Given the description of an element on the screen output the (x, y) to click on. 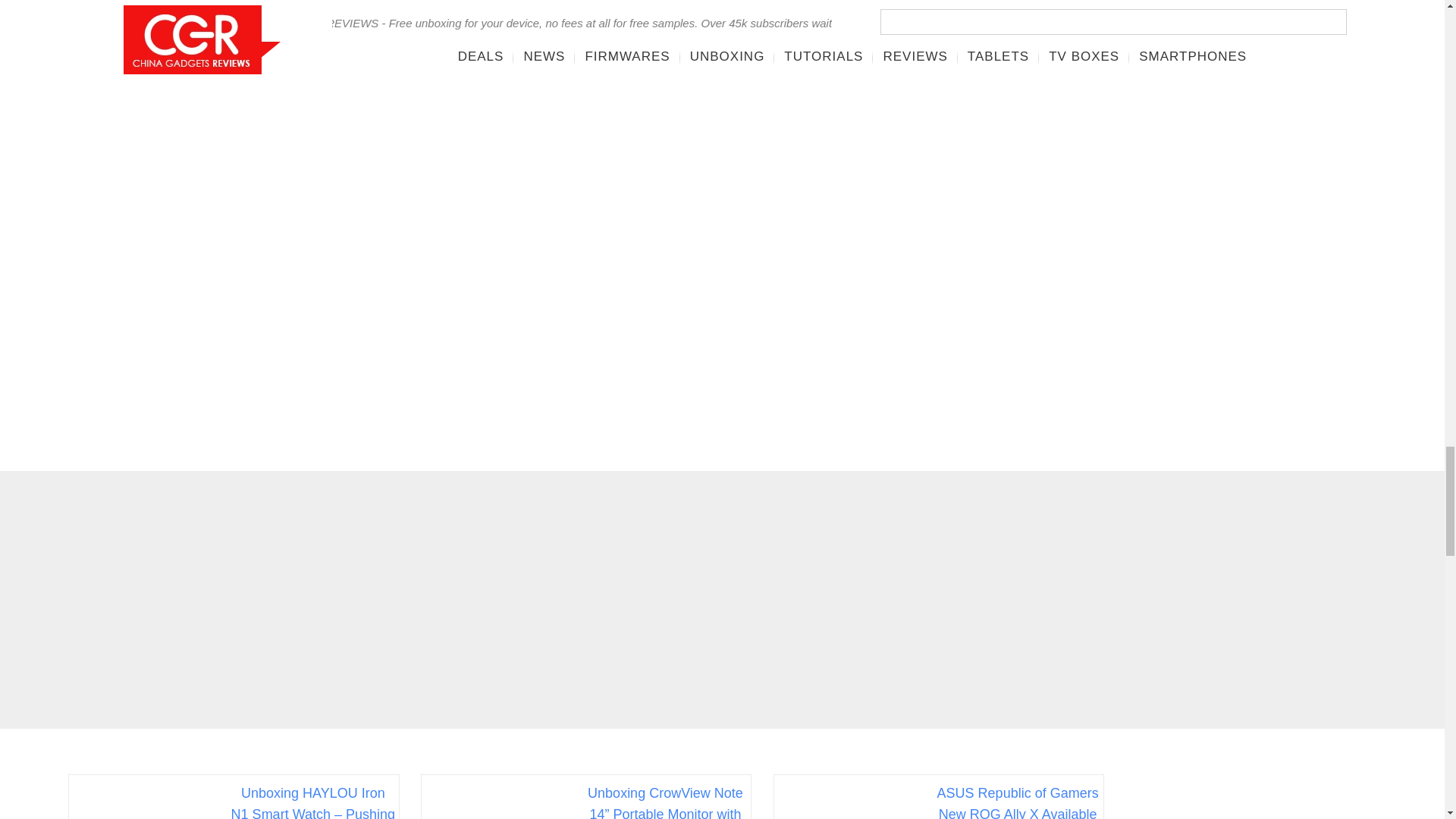
Advertisement (1267, 212)
ASUS Republic of Gamers New ROG Ally X Available for Order (1016, 796)
